Given the description of an element on the screen output the (x, y) to click on. 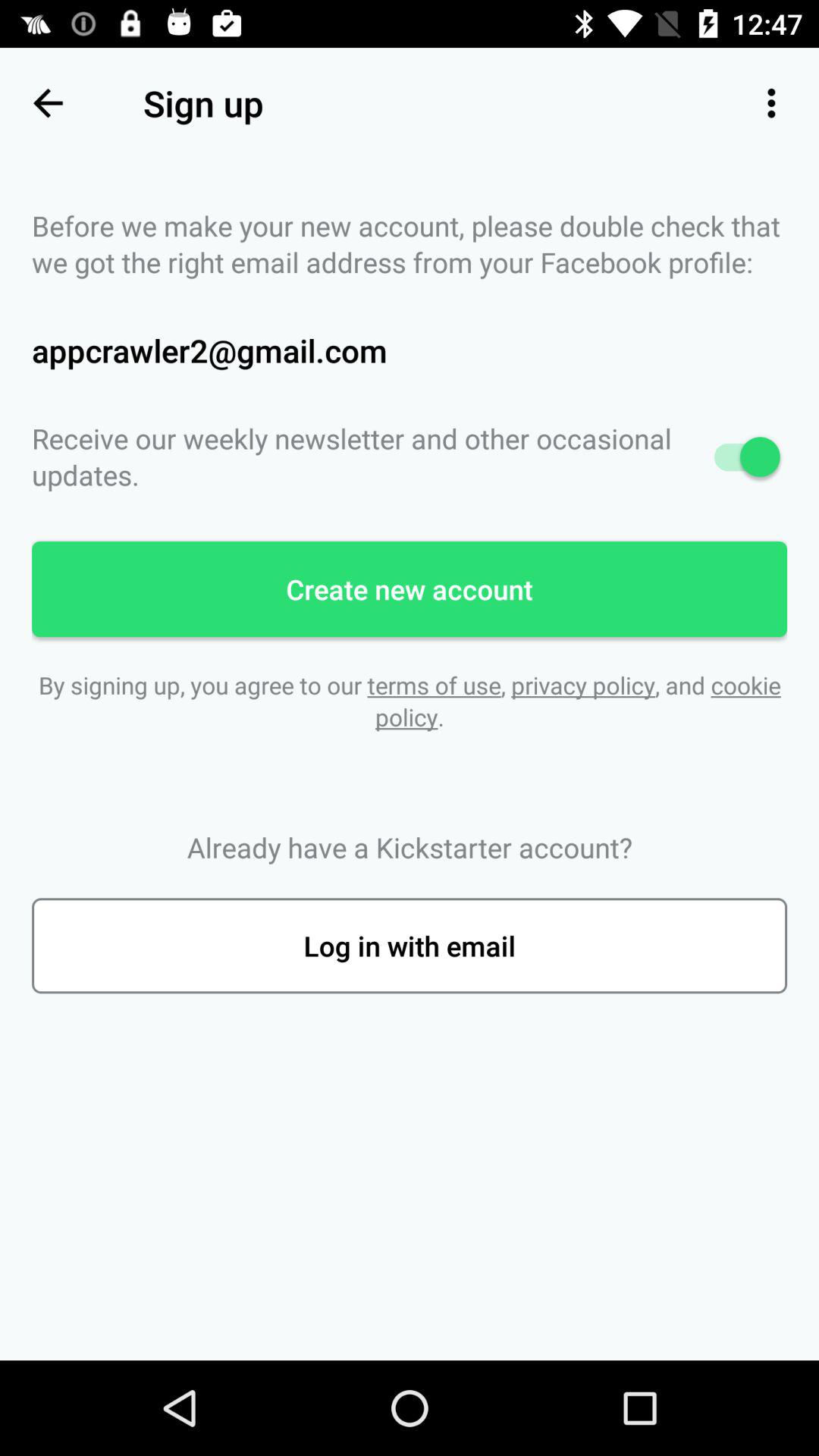
jump to receive our weekly icon (409, 456)
